Given the description of an element on the screen output the (x, y) to click on. 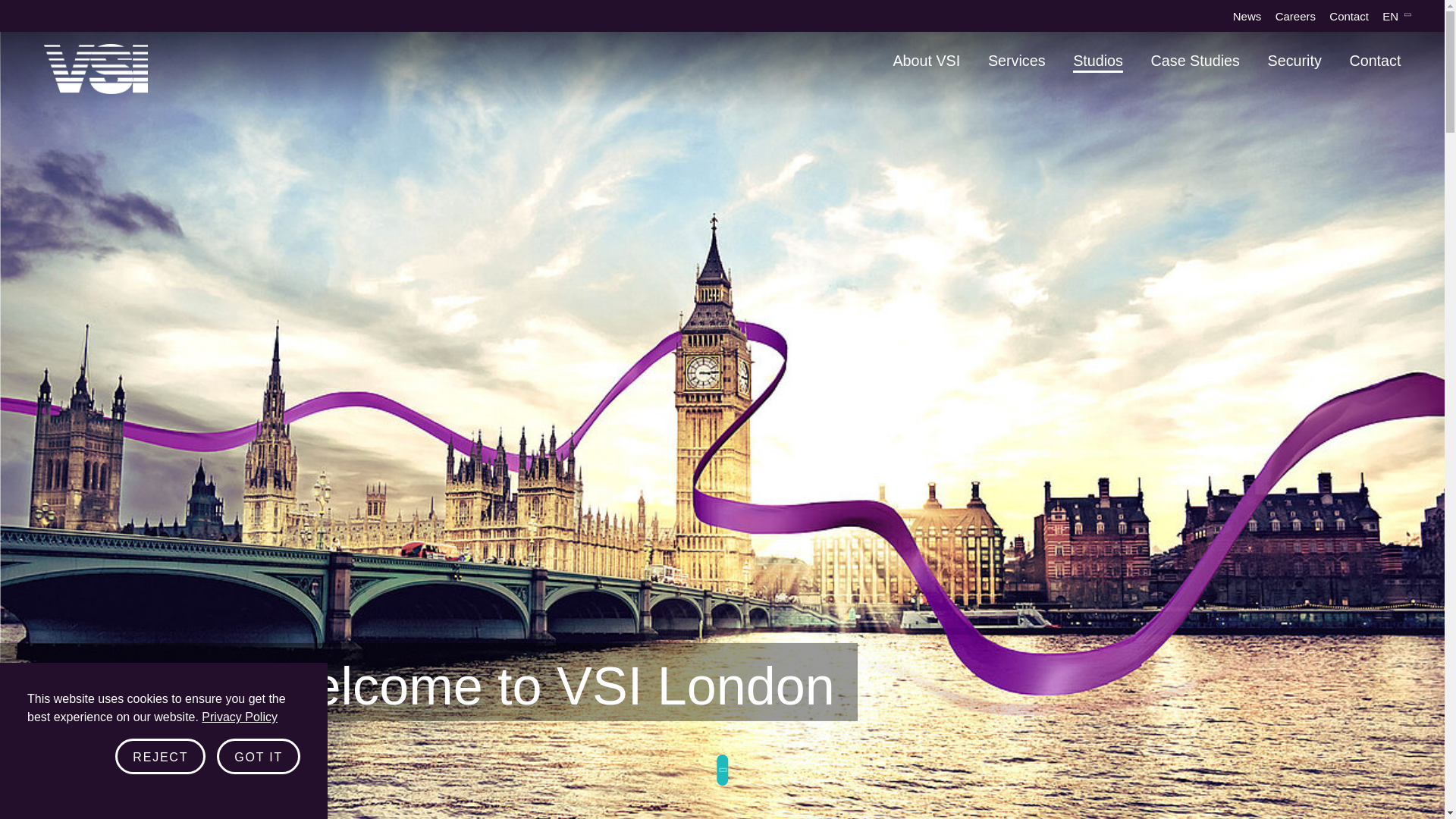
Studios (1097, 60)
Contact (1348, 15)
Security (1295, 60)
About VSI (925, 60)
Careers (1295, 15)
Home (95, 69)
Services (1016, 60)
Privacy Policy (240, 807)
Studios (1097, 60)
Case Studies (1195, 60)
About VSI (925, 60)
Contact (1374, 60)
Careers (1295, 15)
Case Studies (1195, 60)
News (1247, 15)
